Given the description of an element on the screen output the (x, y) to click on. 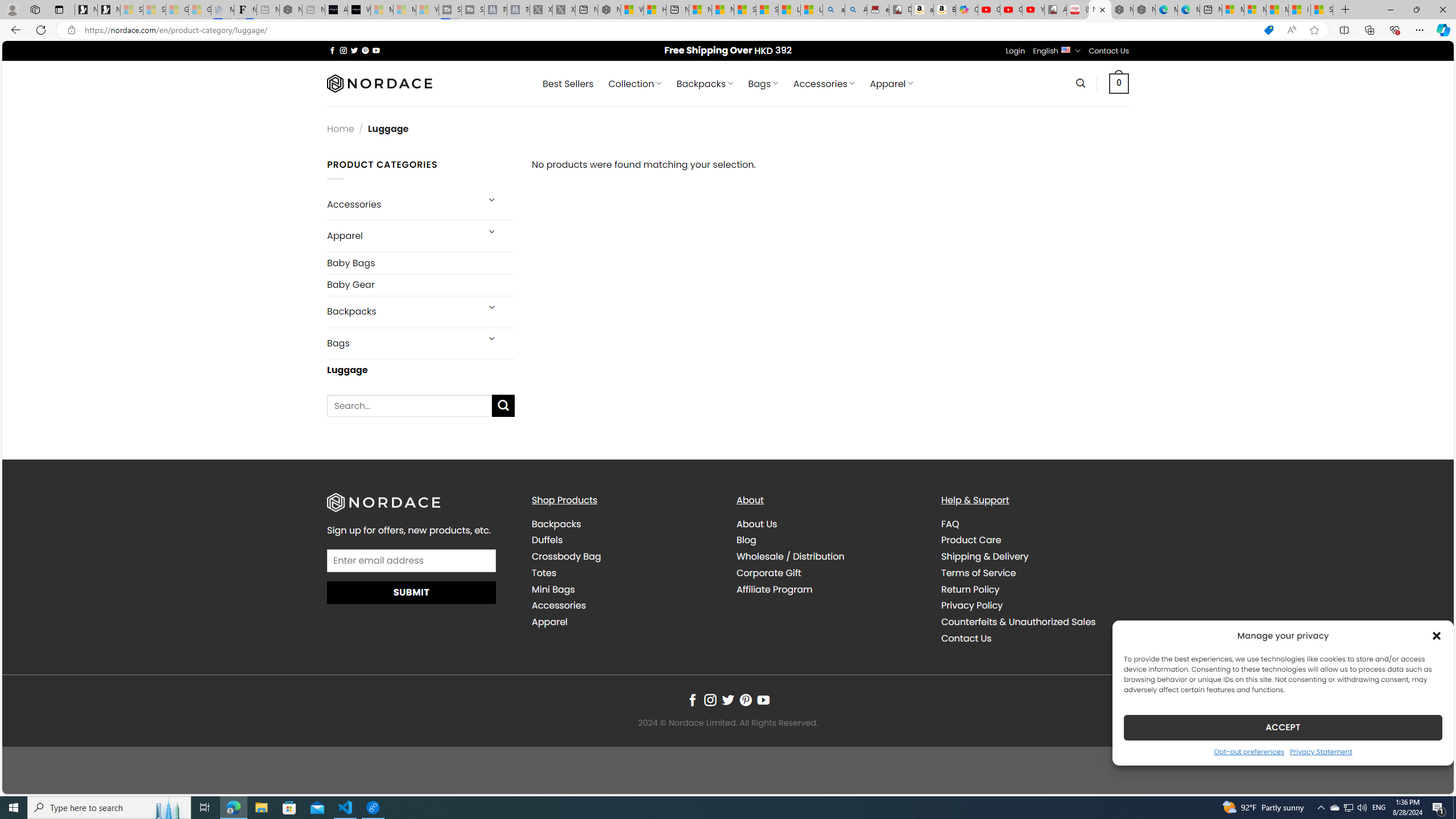
Follow on Instagram (710, 700)
Wholesale / Distribution (830, 556)
amazon.in/dp/B0CX59H5W7/?tag=gsmcom05-21 (923, 9)
Counterfeits & Unauthorized Sales (1018, 621)
Totes (543, 572)
Wholesale / Distribution (790, 556)
  Best Sellers (568, 83)
